Given the description of an element on the screen output the (x, y) to click on. 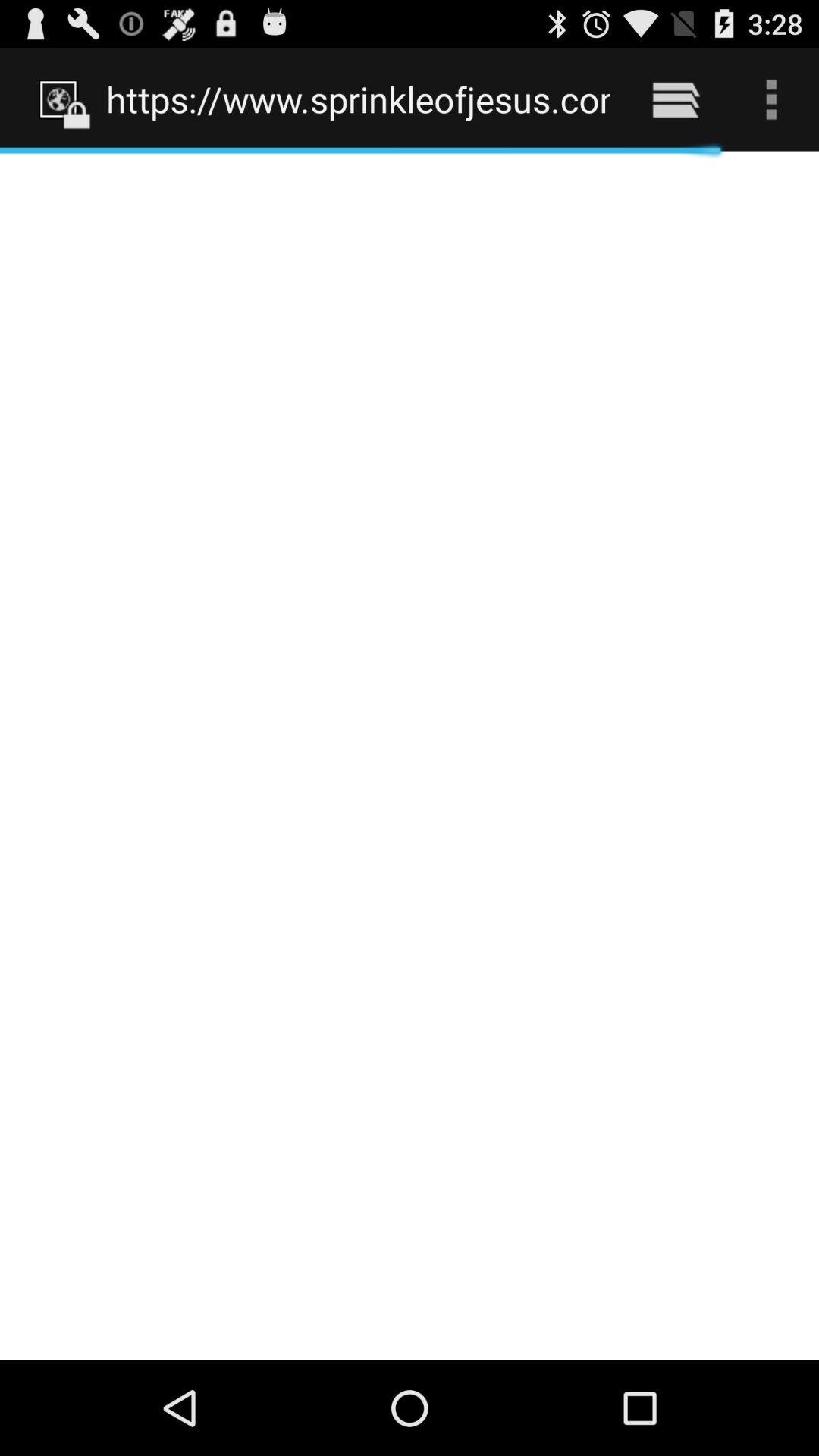
select icon next to https www sprinkleofjesus item (675, 99)
